Given the description of an element on the screen output the (x, y) to click on. 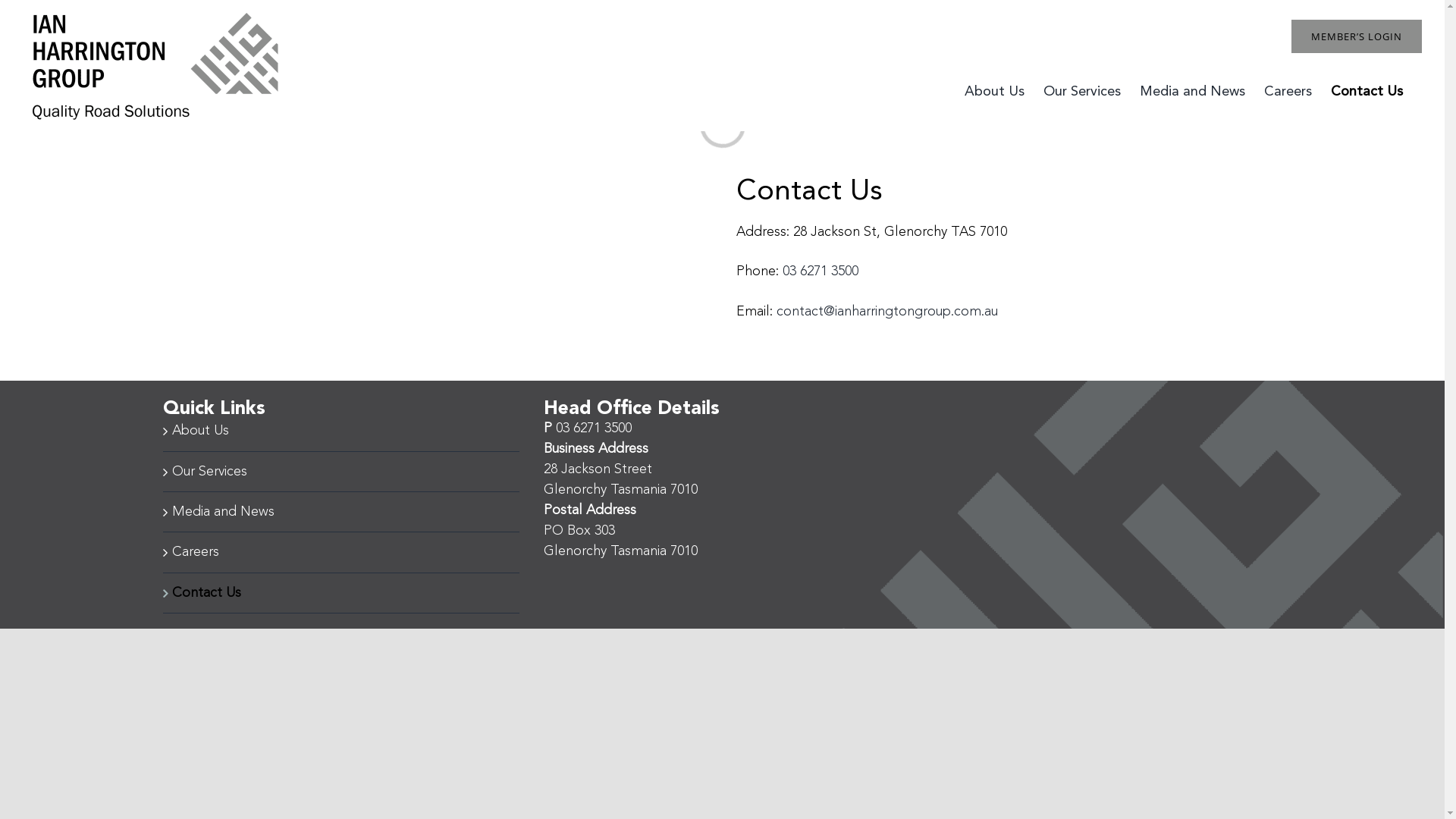
Media and News Element type: text (341, 511)
contact@ianharringtongroup.com.au Element type: text (886, 311)
Contact Us Element type: text (1366, 75)
03 6271 3500 Element type: text (820, 271)
About Us Element type: text (994, 75)
Contact Us Element type: text (341, 592)
Media and News Element type: text (1192, 75)
Careers Element type: text (341, 551)
Careers Element type: text (1287, 75)
Our Services Element type: text (341, 471)
Our Services Element type: text (1081, 75)
About Us Element type: text (341, 430)
